Given the description of an element on the screen output the (x, y) to click on. 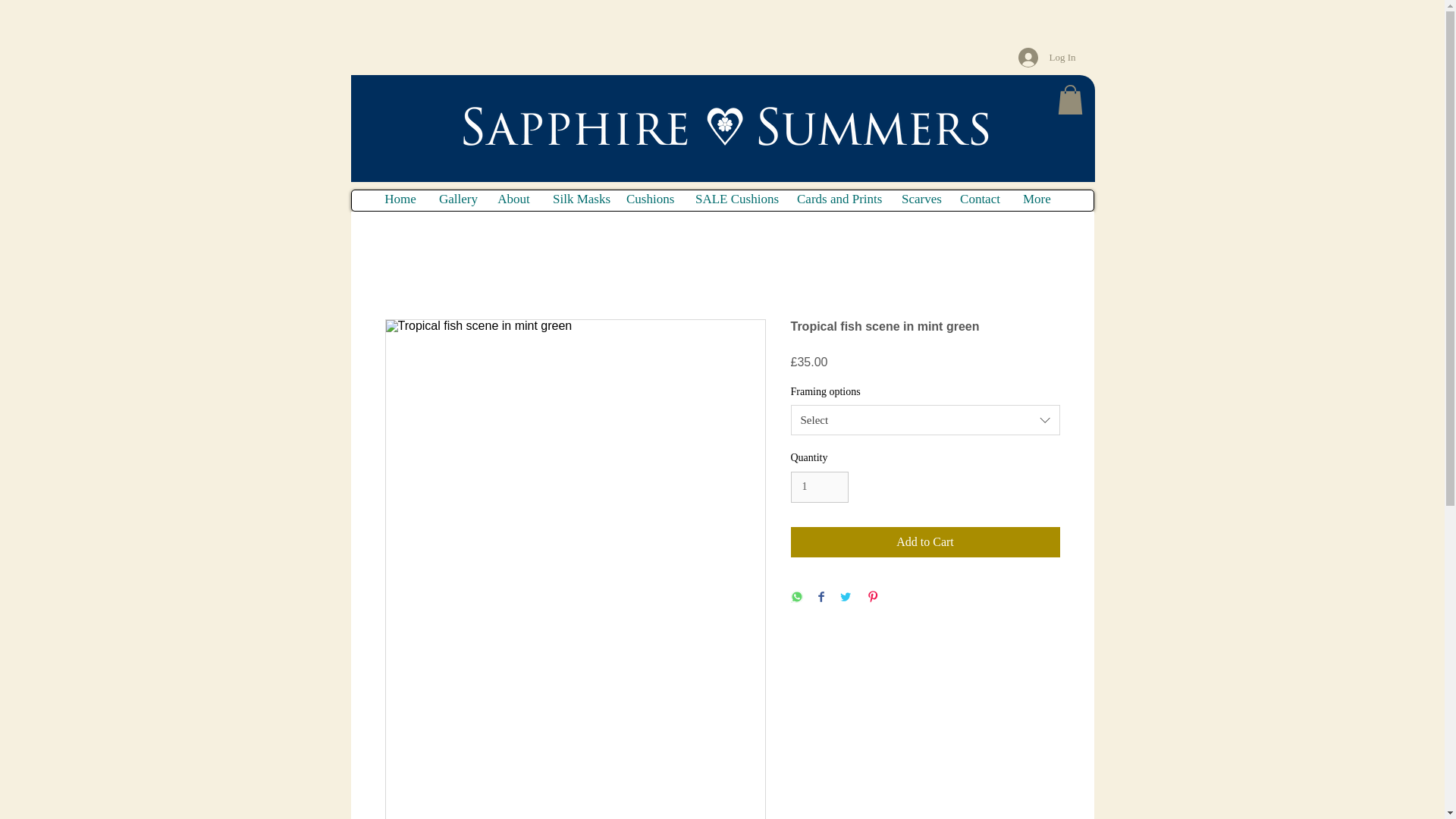
Gallery (457, 199)
Contact (980, 199)
1 (818, 486)
SALE Cushions (735, 199)
Cards and Prints (837, 199)
Select (924, 419)
Scarves (919, 199)
Add to Cart (924, 542)
Home (400, 199)
Sapphire Summers Design (740, 133)
Log In (1046, 57)
Cushions (649, 199)
About (513, 199)
Silk Masks (577, 199)
